Given the description of an element on the screen output the (x, y) to click on. 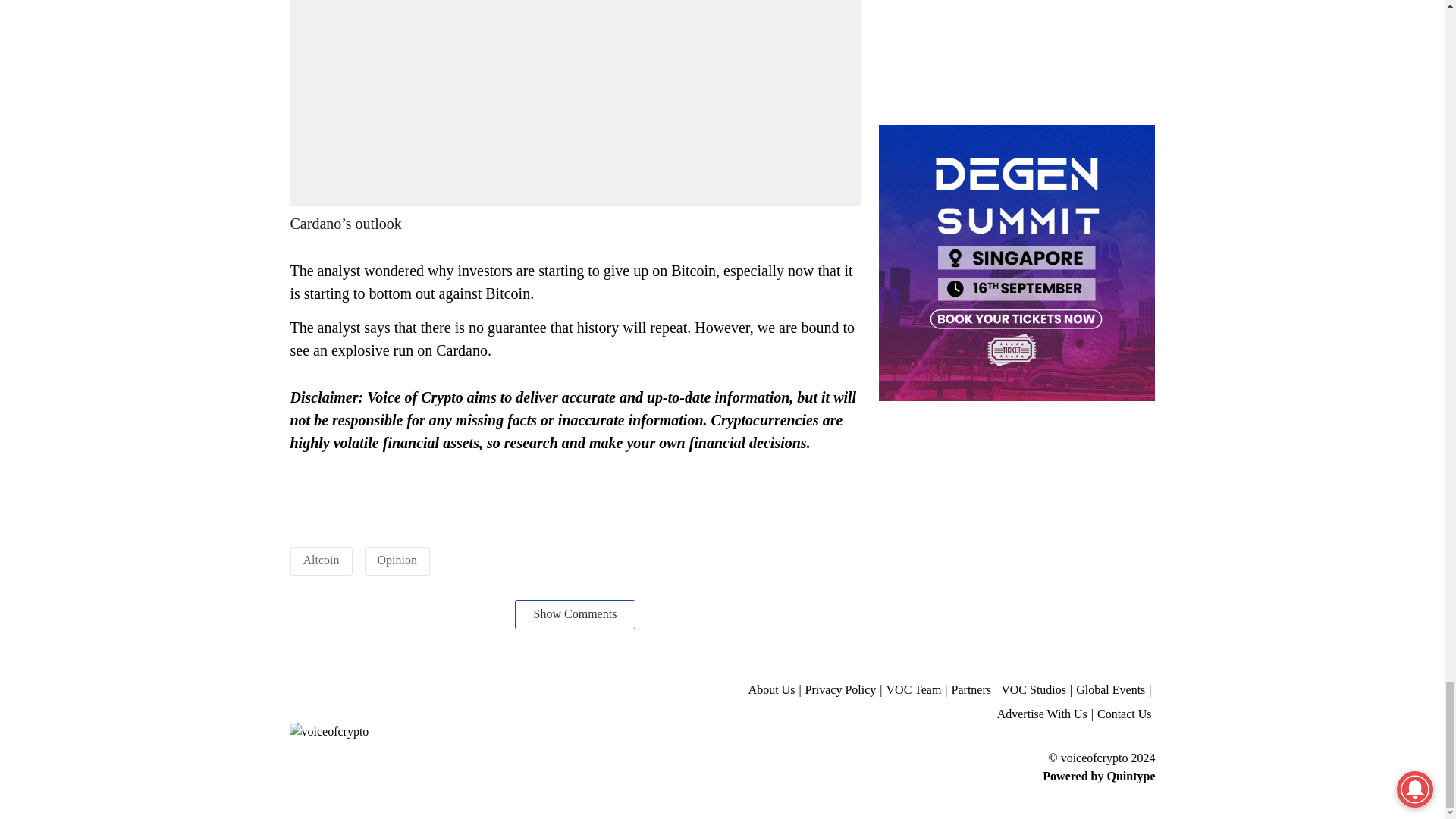
Opinion (396, 559)
Altcoin (320, 559)
Show Comments (575, 613)
